Given the description of an element on the screen output the (x, y) to click on. 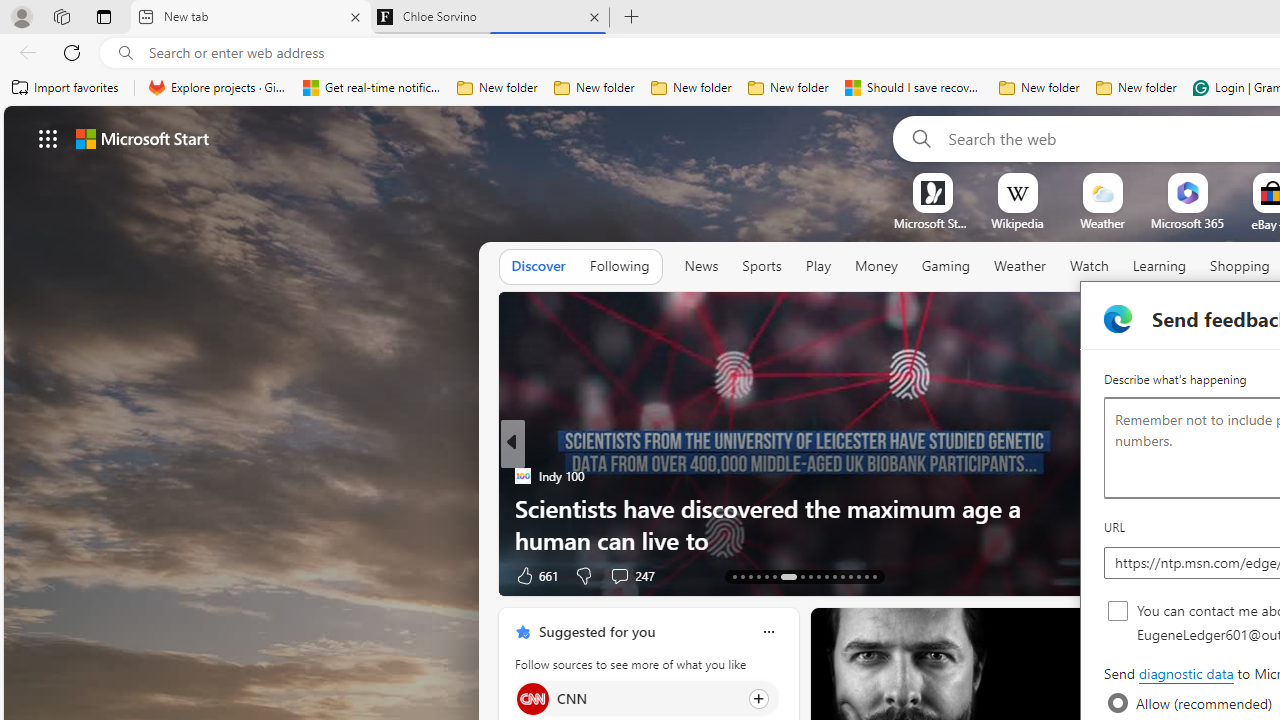
AutomationID: tab-13 (733, 576)
To get missing image descriptions, open the context menu. (932, 192)
Shopping (1240, 265)
CNN (532, 697)
AutomationID: tab-24 (833, 576)
AutomationID: tab-25 (842, 576)
Sports (761, 265)
View comments 58 Comment (11, 575)
Microsoft Start Gaming (932, 223)
AutomationID: tab-39 (850, 576)
Should I save recovered Word documents? - Microsoft Support (913, 88)
Play (817, 265)
